Given the description of an element on the screen output the (x, y) to click on. 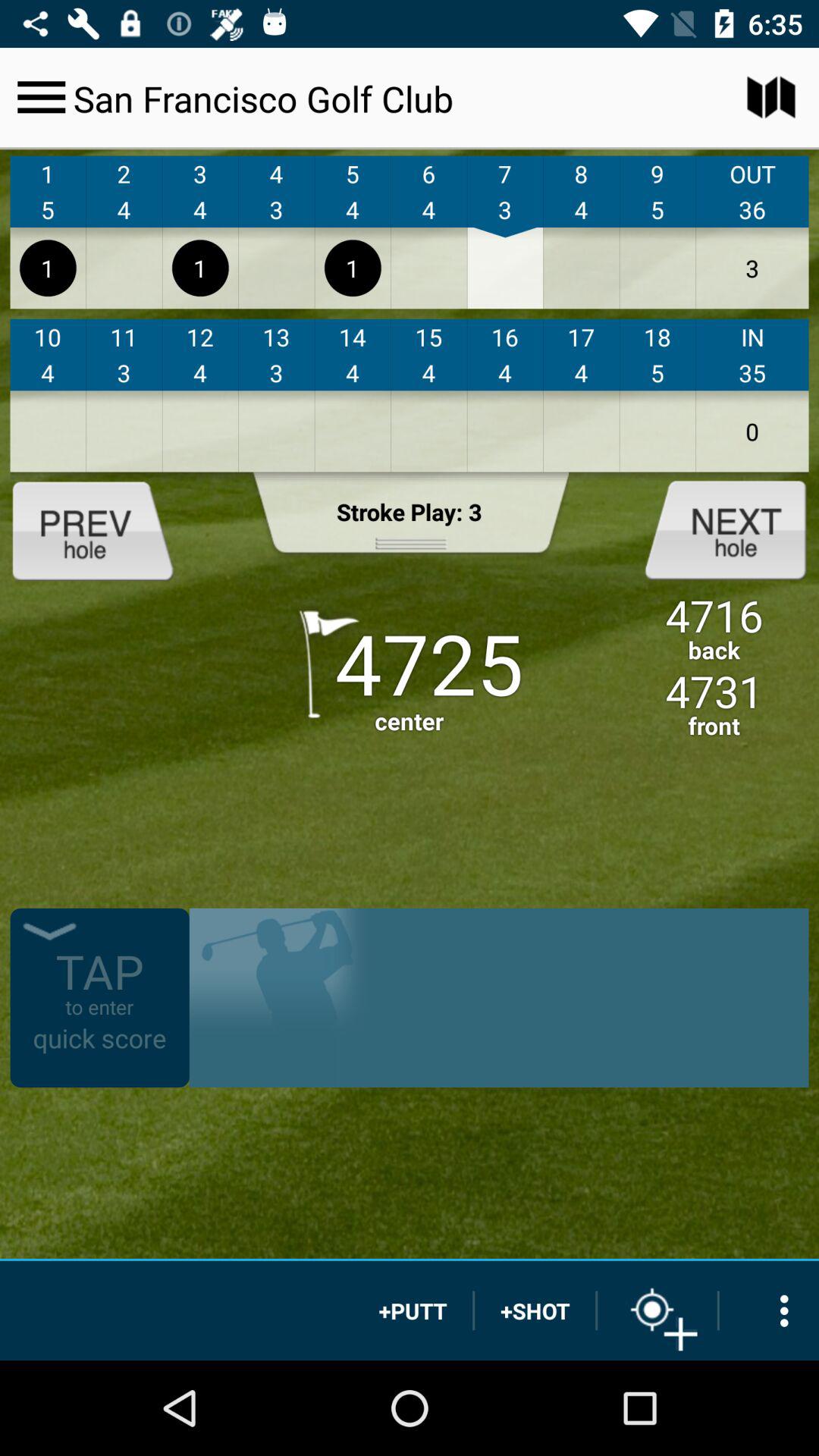
add a location (657, 1310)
